Given the description of an element on the screen output the (x, y) to click on. 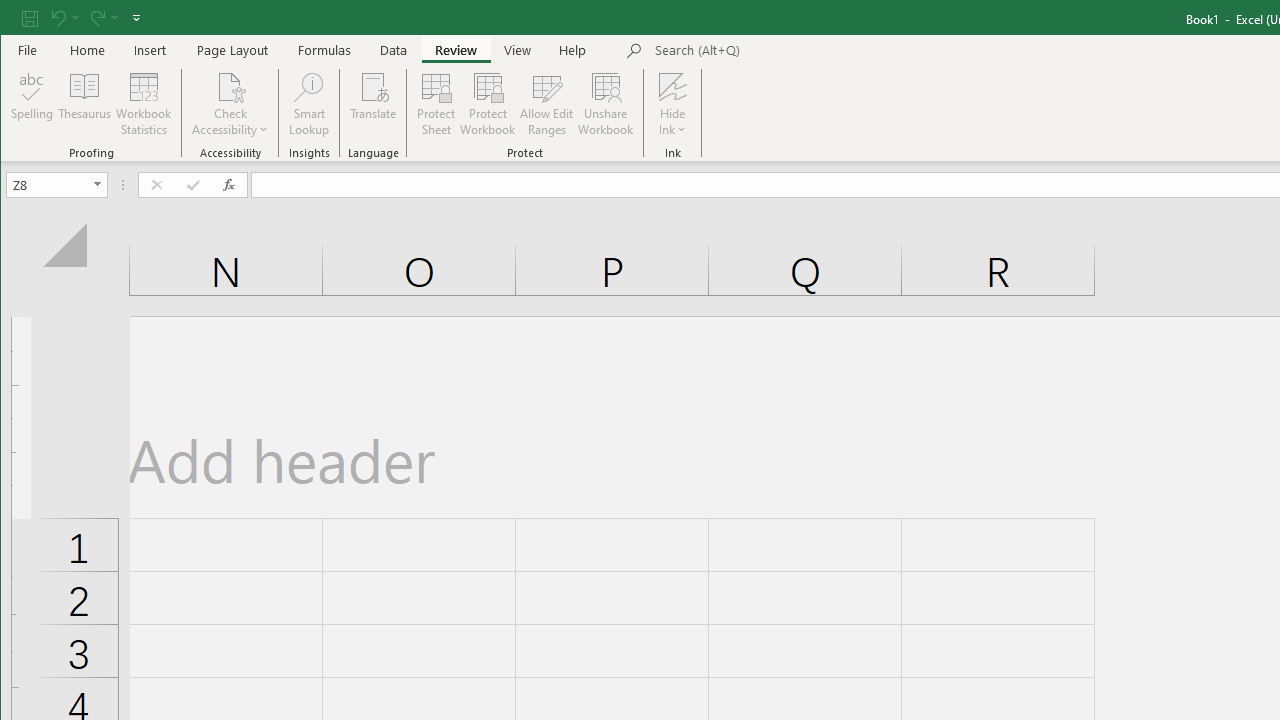
Hide Ink (672, 104)
More Options (672, 123)
Review (456, 50)
Protect Workbook... (488, 104)
Check Accessibility (230, 86)
File Tab (28, 49)
Hide Ink (672, 86)
